Given the description of an element on the screen output the (x, y) to click on. 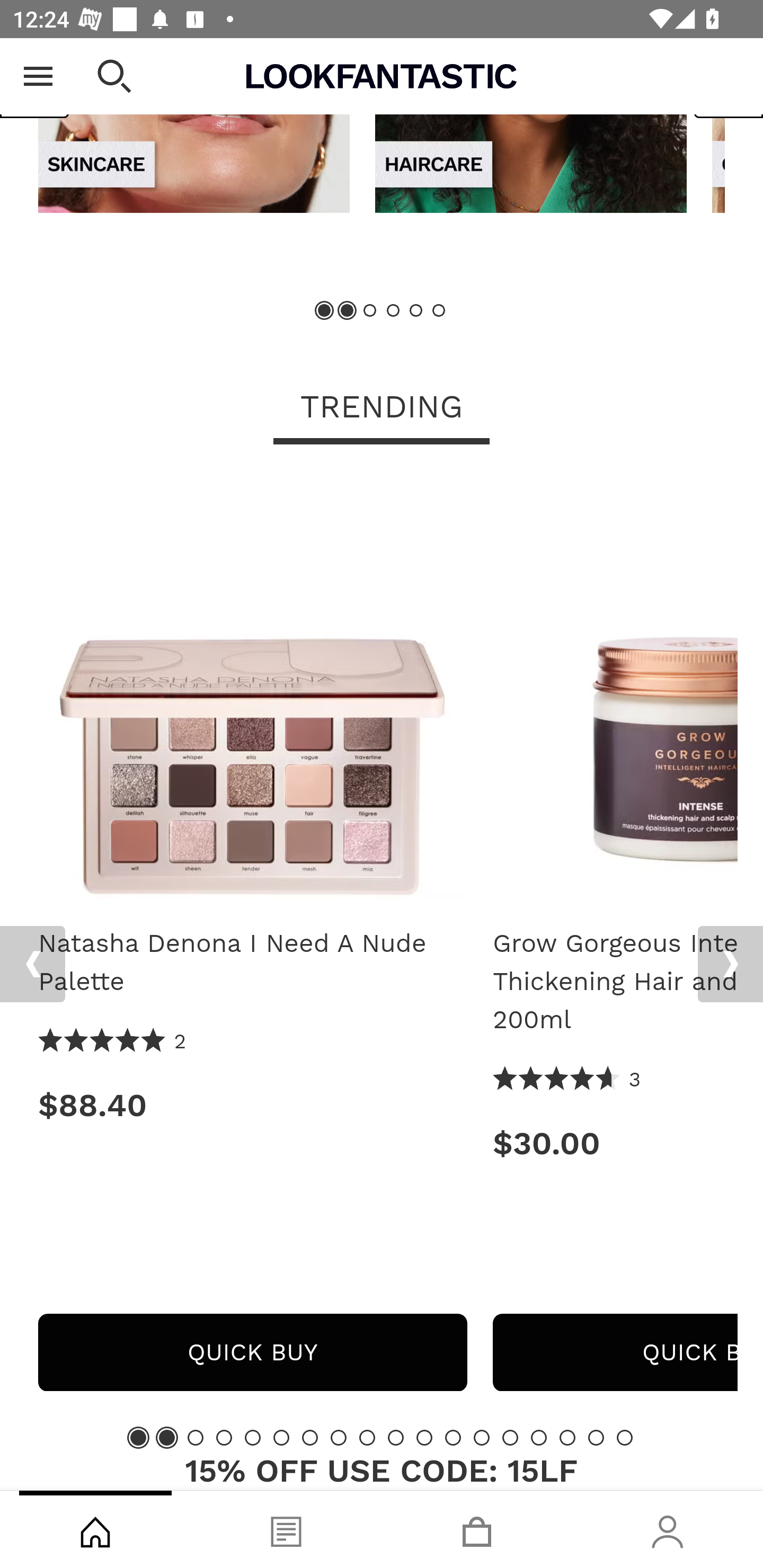
Previous (35, 78)
Showing Slide 1 (Current Item) (324, 311)
Showing Slide 2 (Current Item) (347, 311)
Slide 3 (369, 311)
Slide 4 (393, 311)
Slide 5 (415, 311)
Slide 6 (437, 311)
TRENDING (381, 408)
Natasha Denona I Need A Nude Palette (252, 690)
Natasha Denona I Need A Nude Palette (252, 962)
Previous (32, 964)
Next (730, 964)
5.0 Stars 2 Reviews (112, 1041)
4.67 Stars 3 Reviews (567, 1079)
Price: $88.40 (252, 1104)
Price: $30.00 (614, 1143)
QUICK BUY NATASHA DENONA I NEED A NUDE PALETTE (252, 1352)
Showing Slide 1 (Current Item) (138, 1436)
Showing Slide 2 (Current Item) (166, 1436)
Slide 3 (195, 1436)
Slide 4 (223, 1436)
Slide 5 (252, 1436)
Slide 6 (281, 1436)
Slide 7 (310, 1436)
Slide 8 (338, 1436)
Slide 9 (367, 1436)
Slide 10 (395, 1436)
Slide 11 (424, 1436)
Slide 12 (452, 1436)
Slide 13 (481, 1436)
Slide 14 (510, 1436)
Slide 15 (539, 1436)
Slide 16 (567, 1436)
Slide 17 (596, 1436)
Slide 18 (624, 1436)
Shop, tab, 1 of 4 (95, 1529)
Blog, tab, 2 of 4 (285, 1529)
Basket, tab, 3 of 4 (476, 1529)
Account, tab, 4 of 4 (667, 1529)
